Given the description of an element on the screen output the (x, y) to click on. 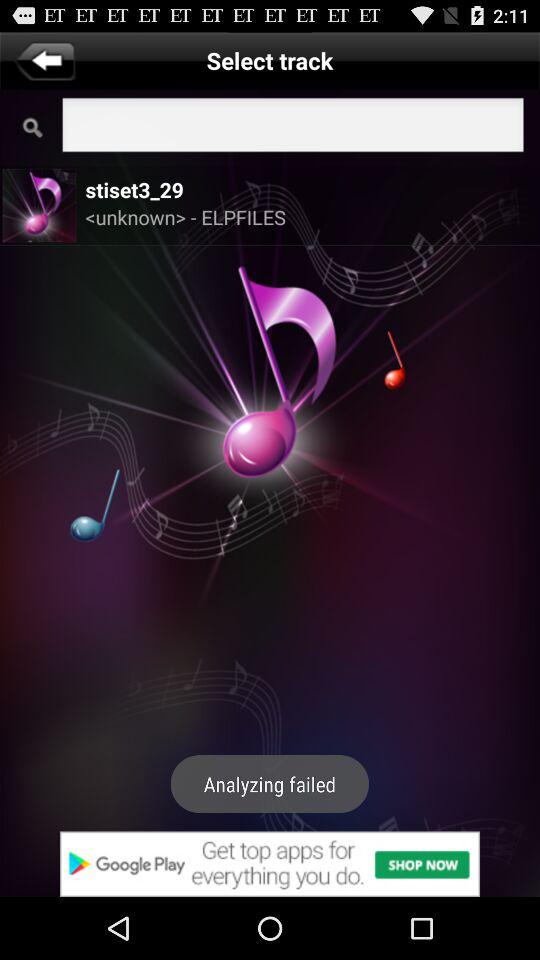
search bar (292, 127)
